Given the description of an element on the screen output the (x, y) to click on. 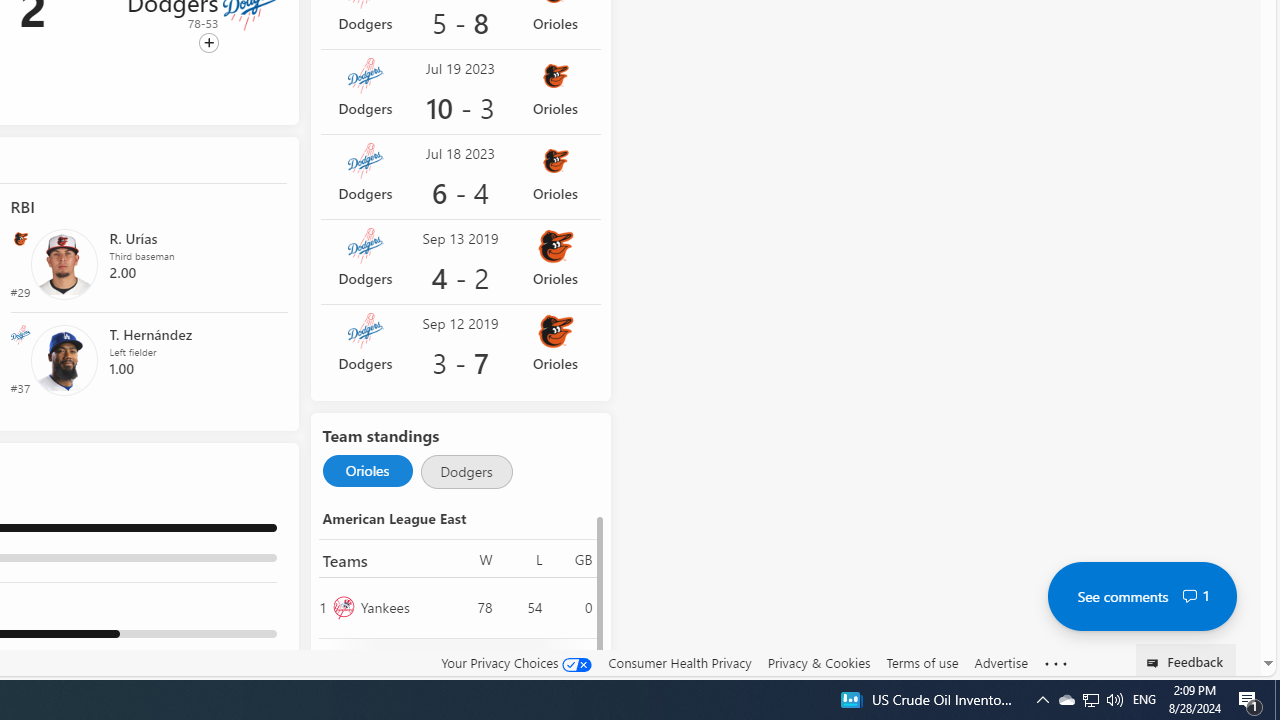
Consumer Health Privacy (680, 662)
Class: cwt-icon-vector (1190, 596)
Privacy & Cookies (818, 663)
Dodgers (466, 471)
Class: feedback_link_icon-DS-EntryPoint1-1 (1156, 663)
Feedback (1186, 659)
Follow Los Angeles Dodgers (208, 43)
See comments 1 (1141, 596)
Terms of use (921, 662)
